Given the description of an element on the screen output the (x, y) to click on. 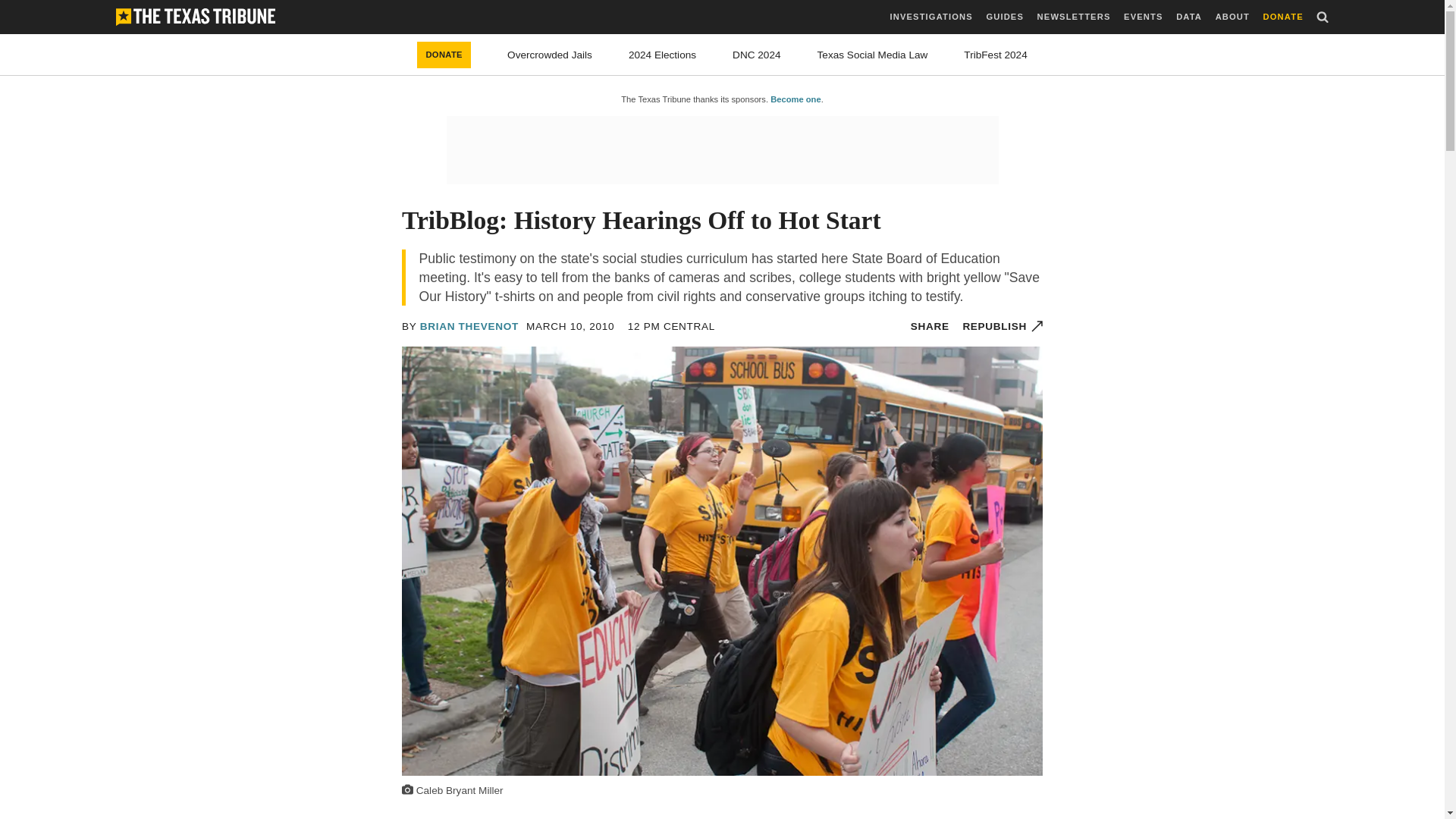
DONATE (443, 54)
Overcrowded Jails (549, 54)
2010-03-10 12:38 CST (569, 326)
NEWSLETTERS (1073, 17)
Texas Social Media Law (872, 54)
INVESTIGATIONS (930, 17)
GUIDES (1004, 17)
ABOUT (1232, 17)
TribFest 2024 (994, 54)
2010-03-10 12:38 CST (670, 326)
